Given the description of an element on the screen output the (x, y) to click on. 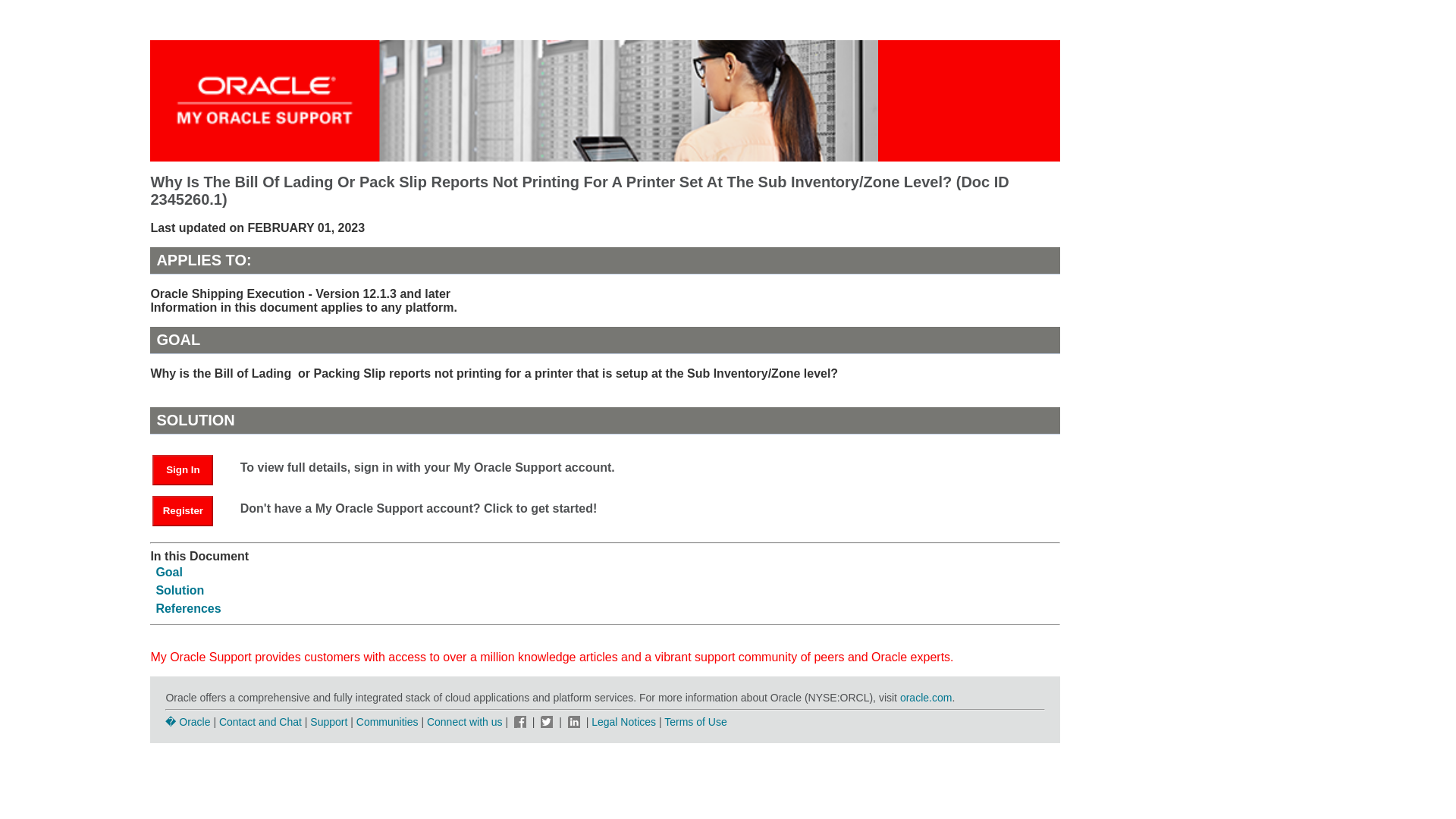
Sign In (190, 468)
Legal Notices (623, 721)
Goal (169, 571)
Terms of Use (694, 721)
oracle.com (925, 697)
Support (328, 721)
References (188, 608)
Communities (387, 721)
Connect with us (465, 721)
oracle.com (925, 697)
Register (182, 511)
Register (190, 509)
Sign In (182, 470)
Solution (179, 590)
Contact and Chat (260, 721)
